Given the description of an element on the screen output the (x, y) to click on. 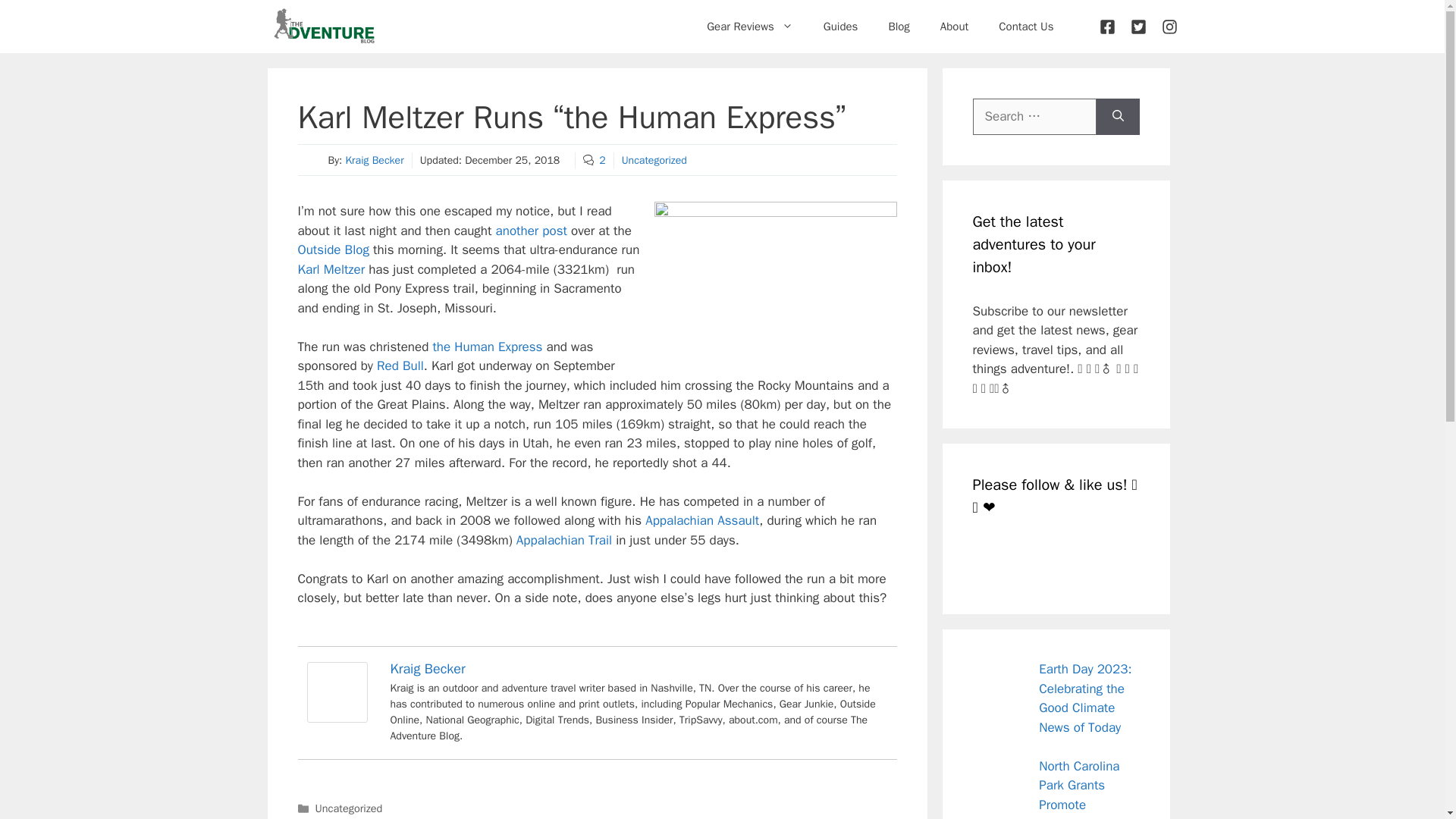
Kraig Becker (427, 668)
Kraig Becker (374, 160)
another post (531, 230)
The Adventure Blog (323, 26)
Kraig Becker (335, 718)
Uncategorized (654, 160)
Guides (840, 26)
Appalachian Assault (701, 520)
Blog (898, 26)
About (954, 26)
Uncategorized (348, 807)
the Human Express (486, 346)
Search for: (1034, 116)
Facebook (990, 560)
